Given the description of an element on the screen output the (x, y) to click on. 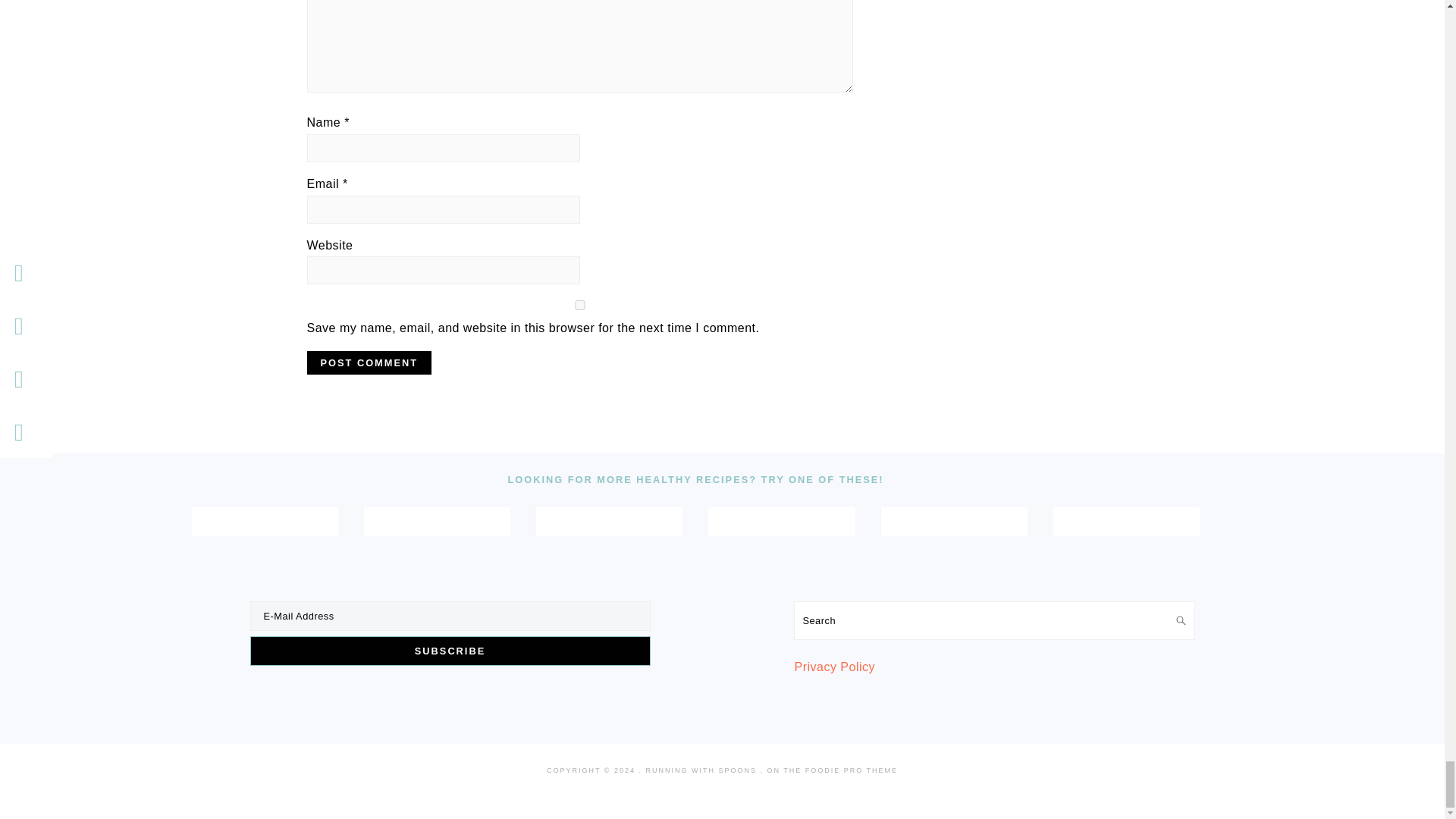
Subscribe (450, 650)
Post Comment (367, 362)
yes (578, 305)
